Given the description of an element on the screen output the (x, y) to click on. 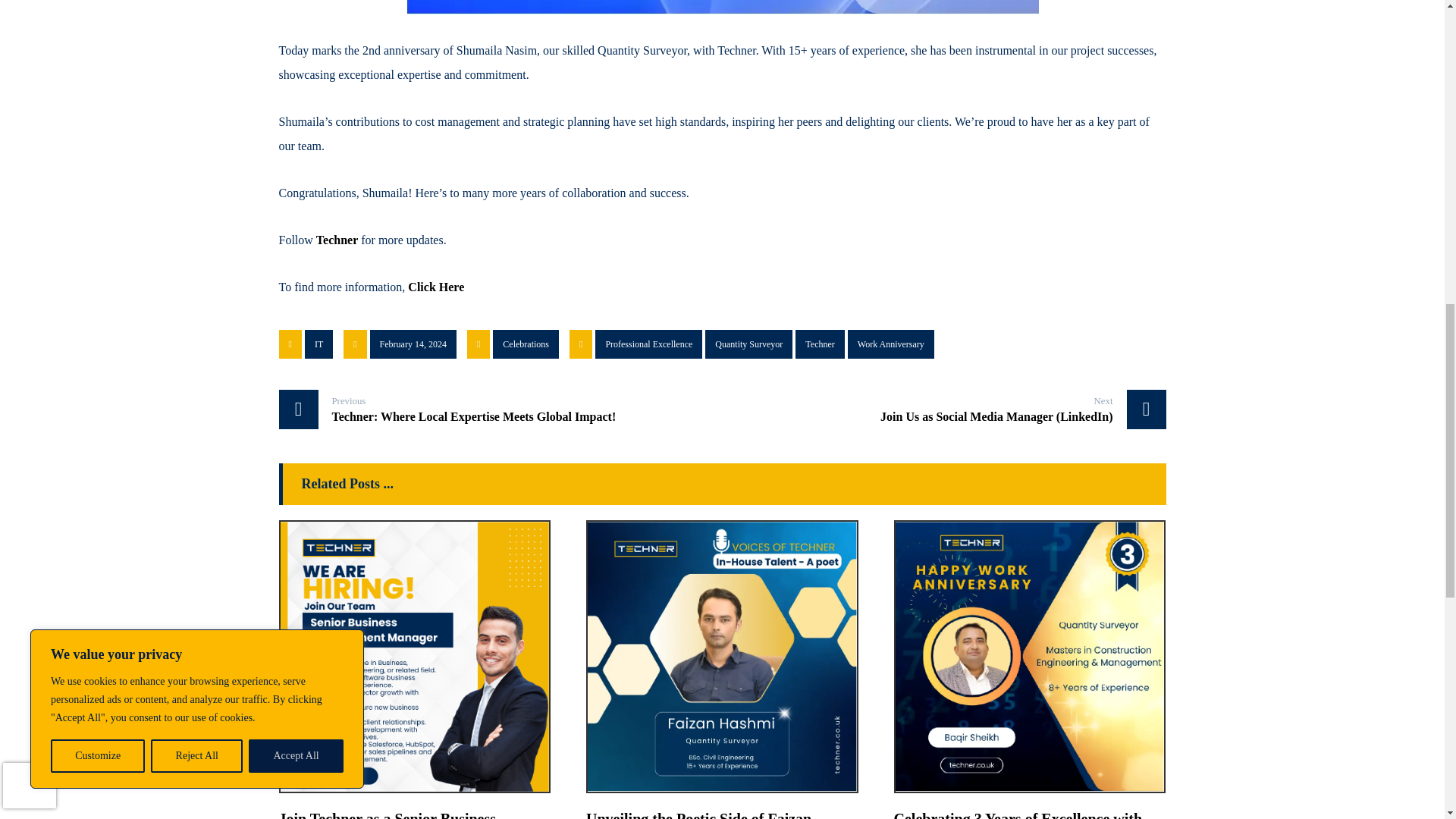
Tags (753, 348)
Published on (401, 348)
Posted by (307, 348)
